Given the description of an element on the screen output the (x, y) to click on. 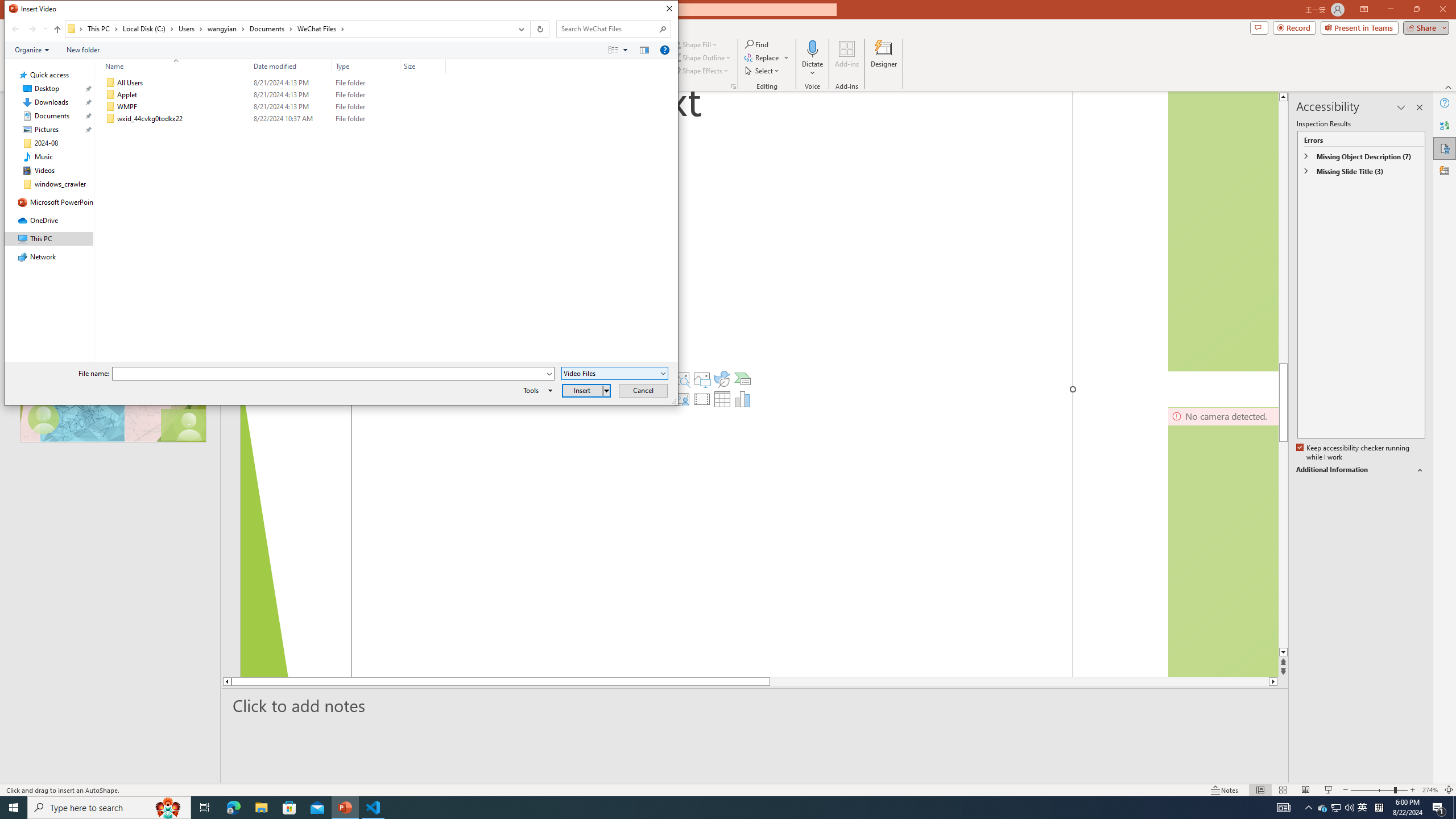
Up to "Documents" (Alt + Up Arrow) (57, 29)
Insert a SmartArt Graphic (742, 378)
Organize (31, 49)
Back (Alt + Left Arrow) (15, 28)
Tools (535, 390)
